Given the description of an element on the screen output the (x, y) to click on. 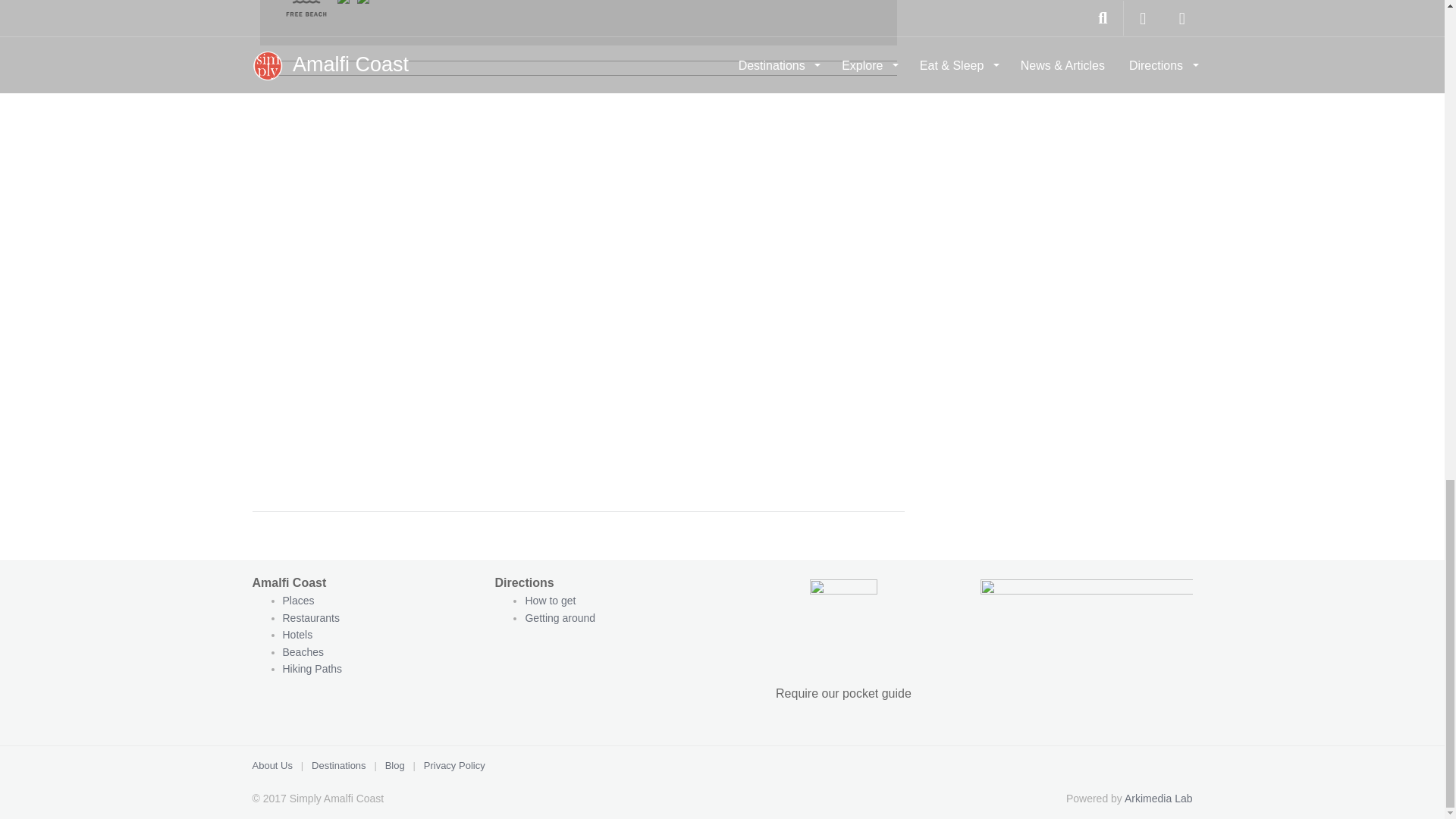
Beaches (302, 652)
Places (298, 600)
Hotels (297, 634)
Restaurants  (312, 617)
